Given the description of an element on the screen output the (x, y) to click on. 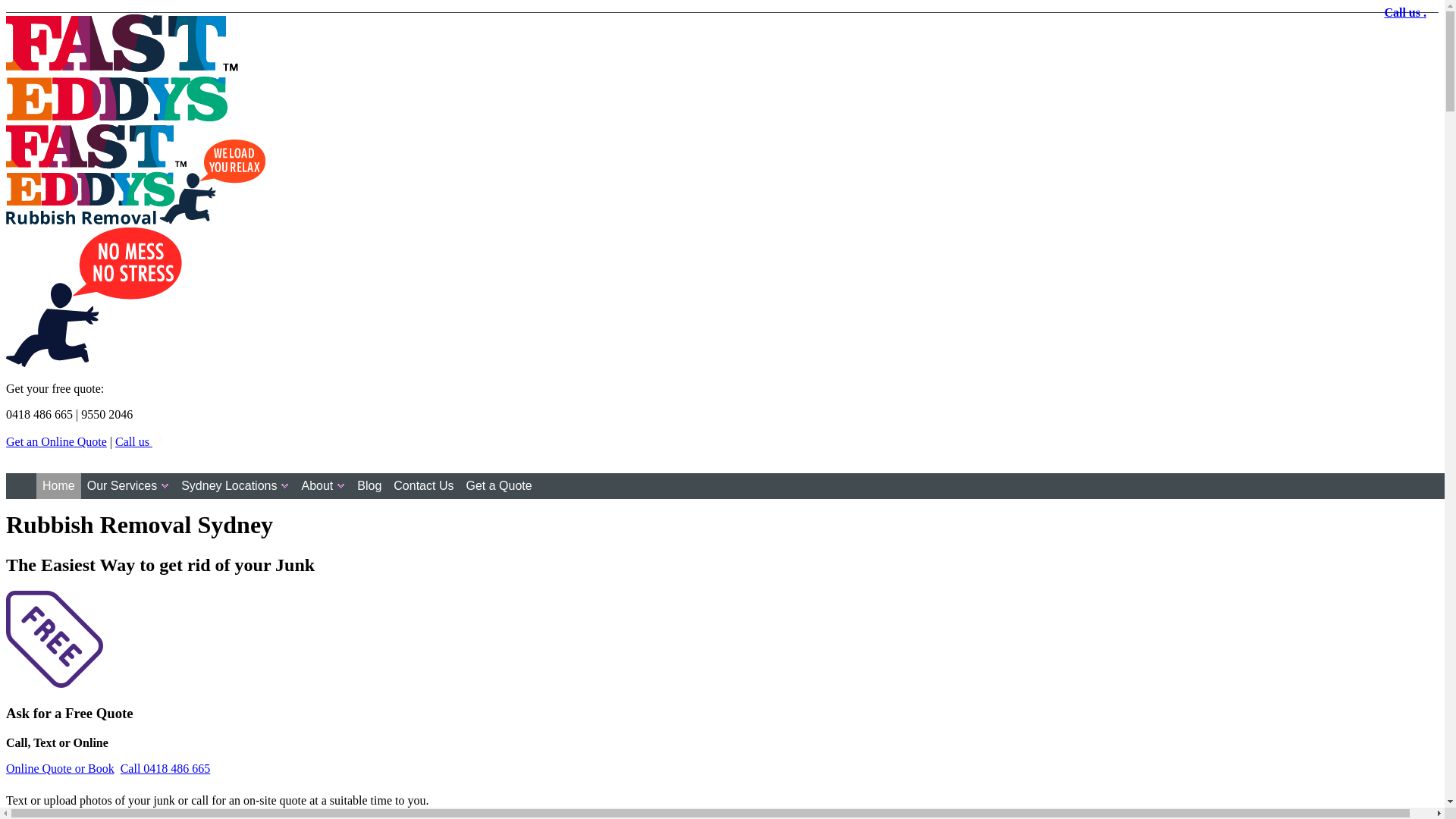
Blog Element type: text (369, 485)
Call us Element type: text (139, 441)
Online Quote or Book Element type: text (60, 768)
Home Element type: text (58, 485)
Get an Online Quote Element type: text (56, 441)
Contact Us Element type: text (423, 485)
Get a Quote Element type: text (498, 485)
Call 0418 486 665 Element type: text (165, 768)
